Given the description of an element on the screen output the (x, y) to click on. 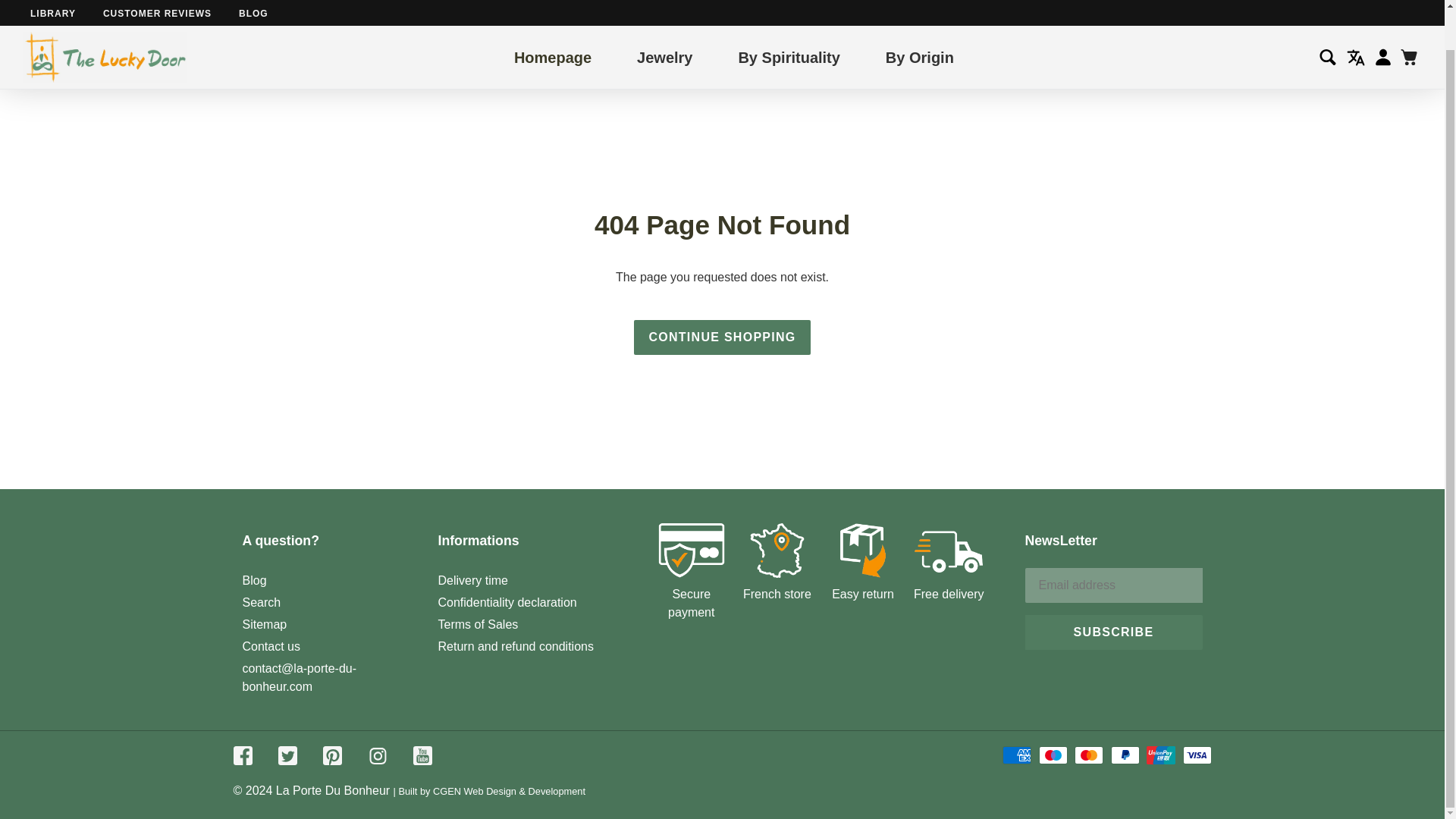
PayPal (1125, 755)
American Express (1016, 755)
Homepage (552, 17)
Jewelry (664, 17)
Visa (1196, 755)
Maestro (1053, 755)
Mastercard (1088, 755)
Union Pay (1160, 755)
By Spirituality (788, 17)
By Origin (918, 17)
